Given the description of an element on the screen output the (x, y) to click on. 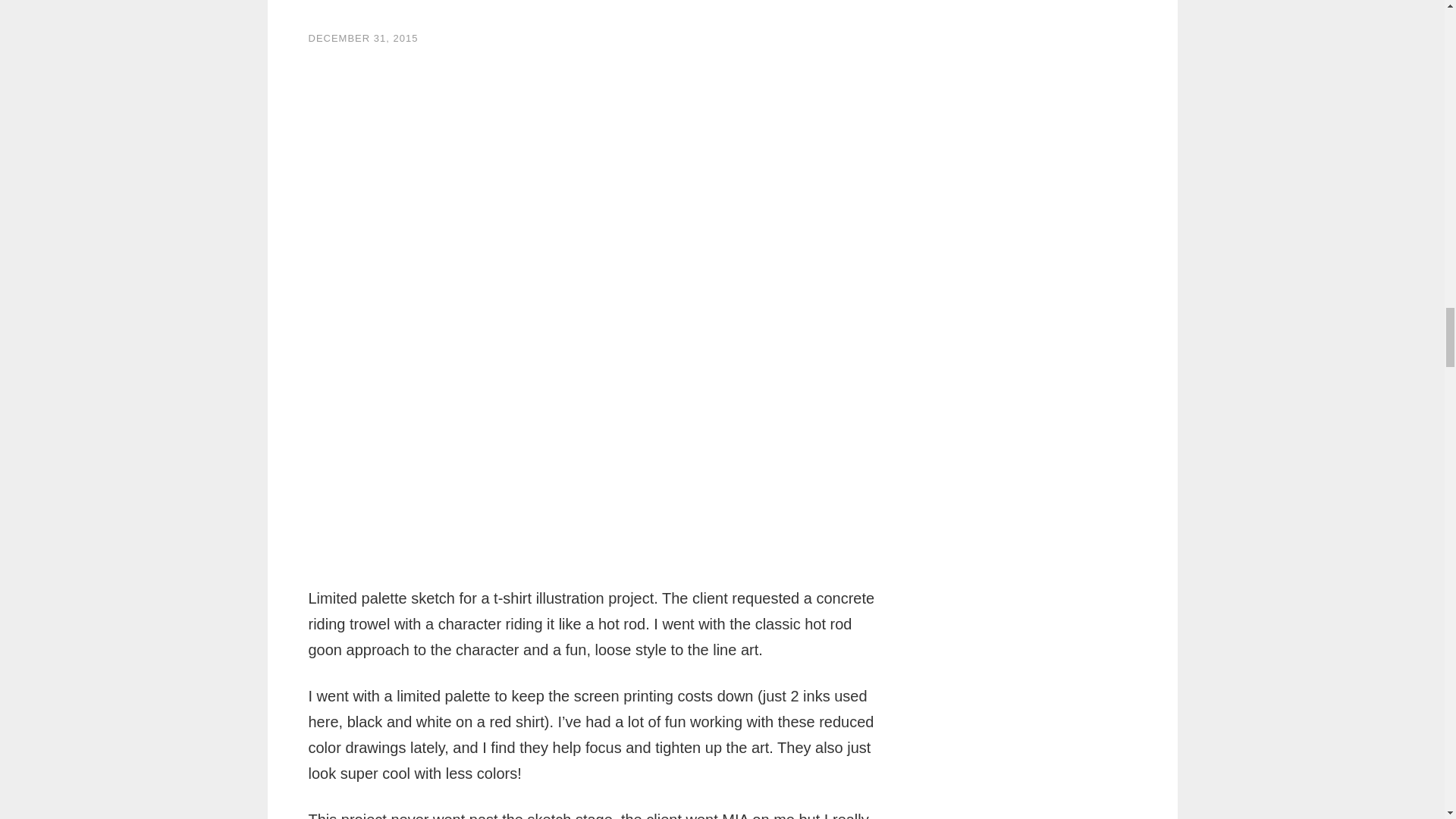
DECEMBER 31, 2015 (362, 38)
